Given the description of an element on the screen output the (x, y) to click on. 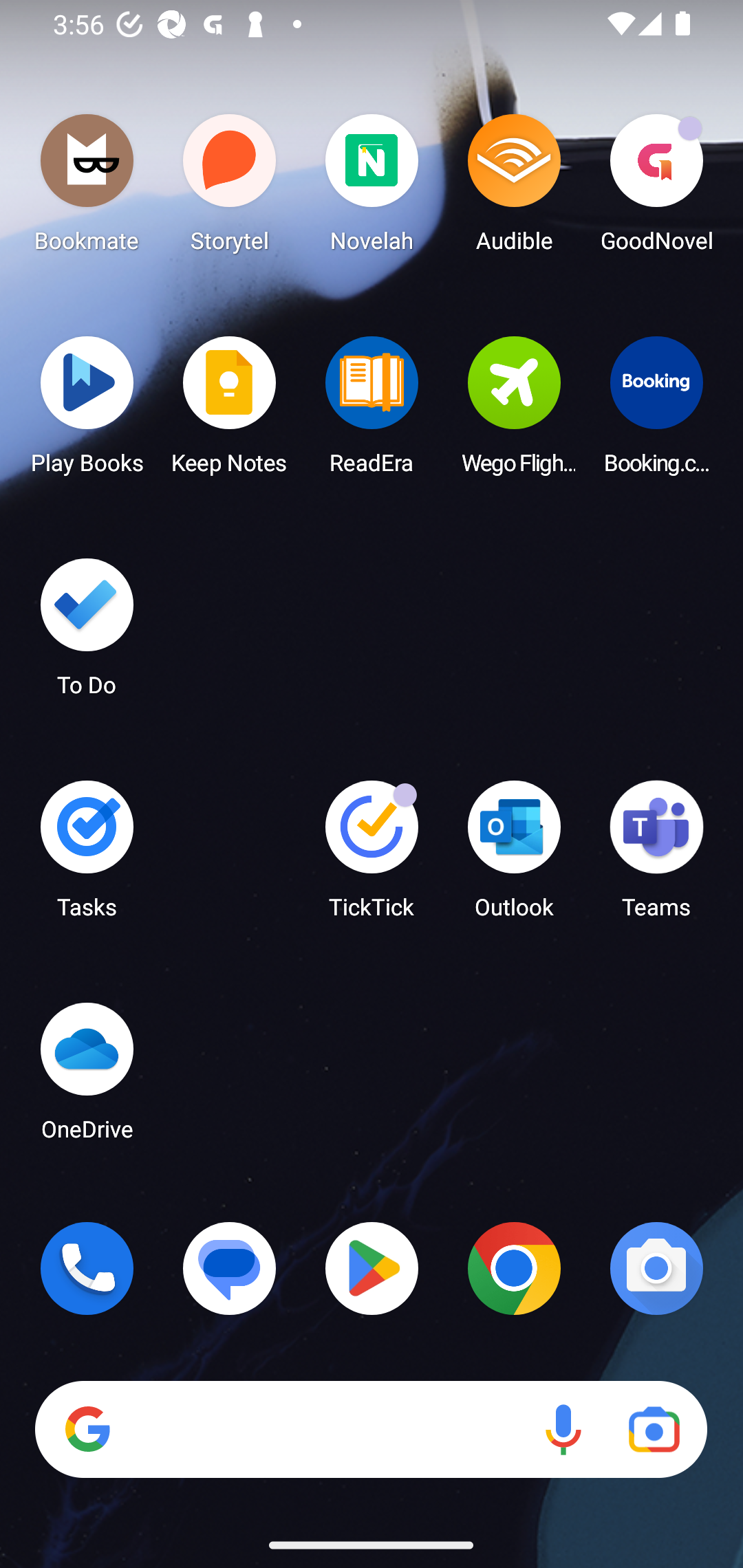
Bookmate (86, 188)
Storytel (229, 188)
Novelah (371, 188)
Audible (513, 188)
GoodNovel GoodNovel has 1 notification (656, 188)
Play Books (86, 410)
Keep Notes (229, 410)
ReadEra (371, 410)
Wego Flights & Hotels (513, 410)
Booking.com (656, 410)
To Do (86, 633)
Tasks (86, 854)
TickTick TickTick has 3 notifications (371, 854)
Outlook (513, 854)
Teams (656, 854)
OneDrive (86, 1076)
Phone (86, 1268)
Messages (229, 1268)
Play Store (371, 1268)
Chrome (513, 1268)
Camera (656, 1268)
Search Voice search Google Lens (370, 1429)
Voice search (562, 1429)
Google Lens (653, 1429)
